Given the description of an element on the screen output the (x, y) to click on. 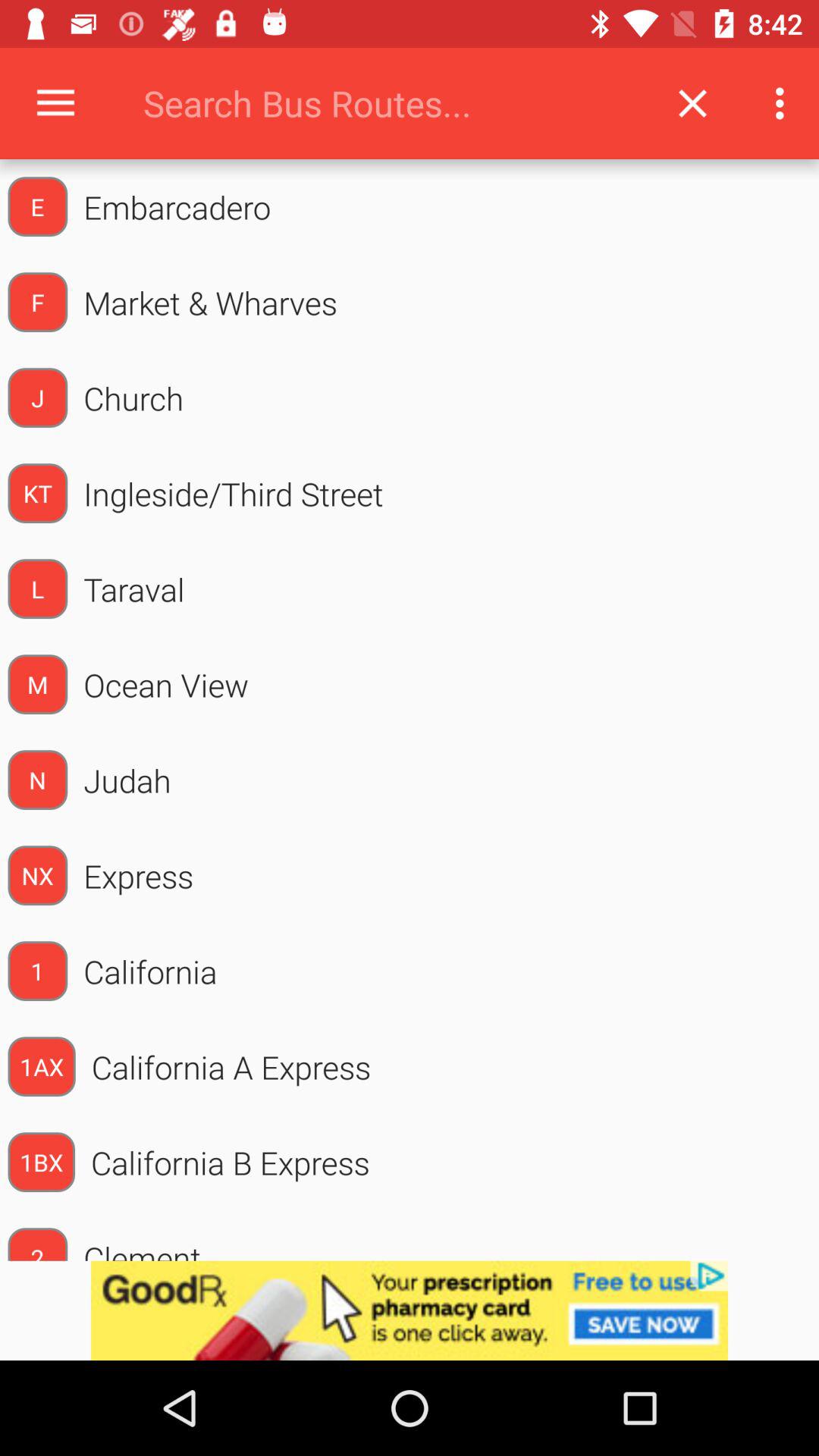
advertisement (409, 1310)
